Given the description of an element on the screen output the (x, y) to click on. 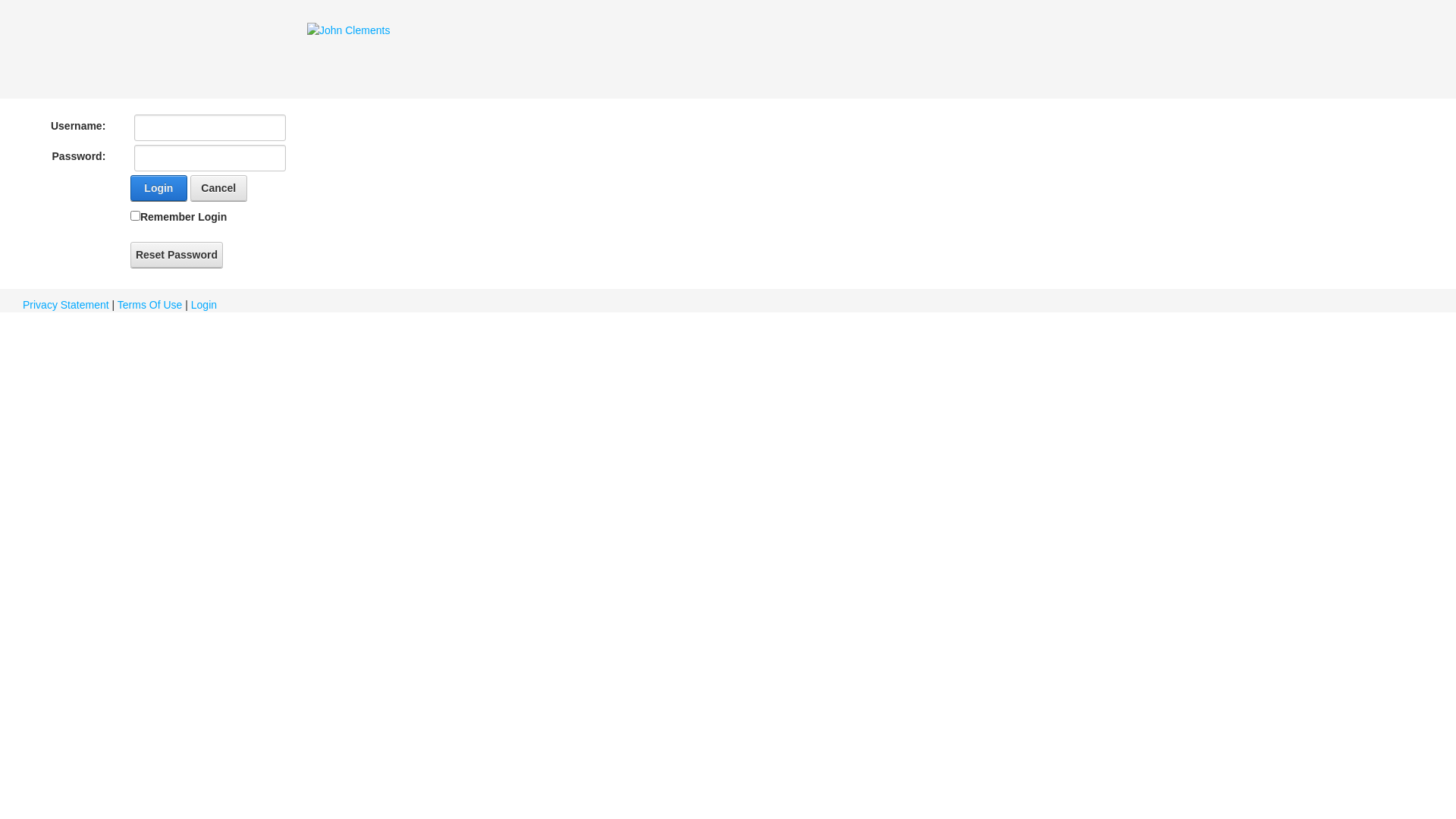
Cancel Element type: text (218, 187)
Login Element type: text (158, 187)
John Clements Element type: hover (348, 29)
Login Element type: text (203, 304)
Reset Password Element type: text (176, 254)
Terms Of Use Element type: text (149, 304)
Privacy Statement Element type: text (65, 304)
